Given the description of an element on the screen output the (x, y) to click on. 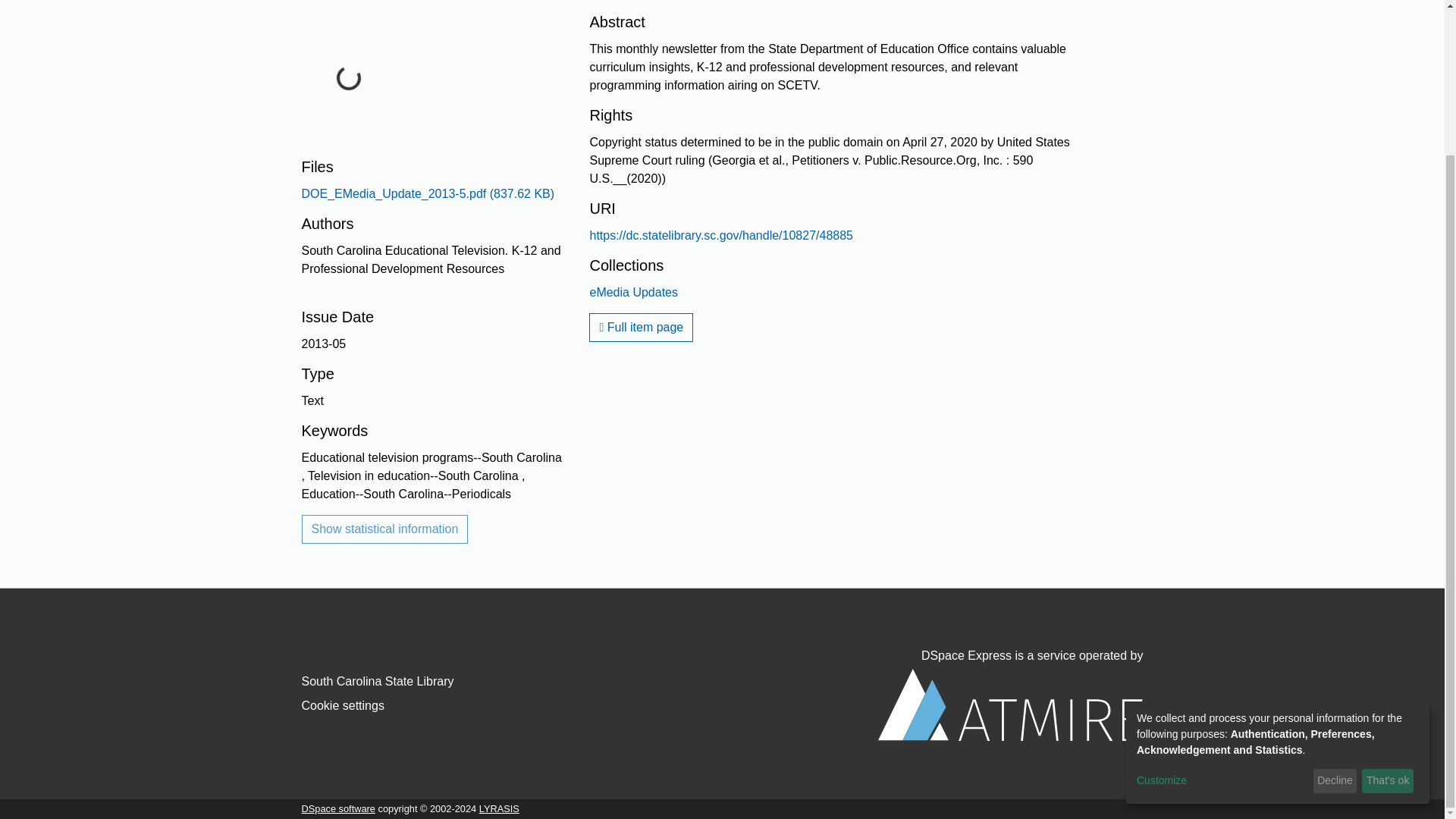
DSpace software (338, 808)
Customize (1222, 599)
South Carolina State Library (377, 680)
Show statistical information (384, 529)
Full item page (641, 327)
eMedia Updates (633, 291)
Decline (1334, 599)
LYRASIS (499, 808)
That's ok (1387, 599)
Cookie settings (342, 705)
